Given the description of an element on the screen output the (x, y) to click on. 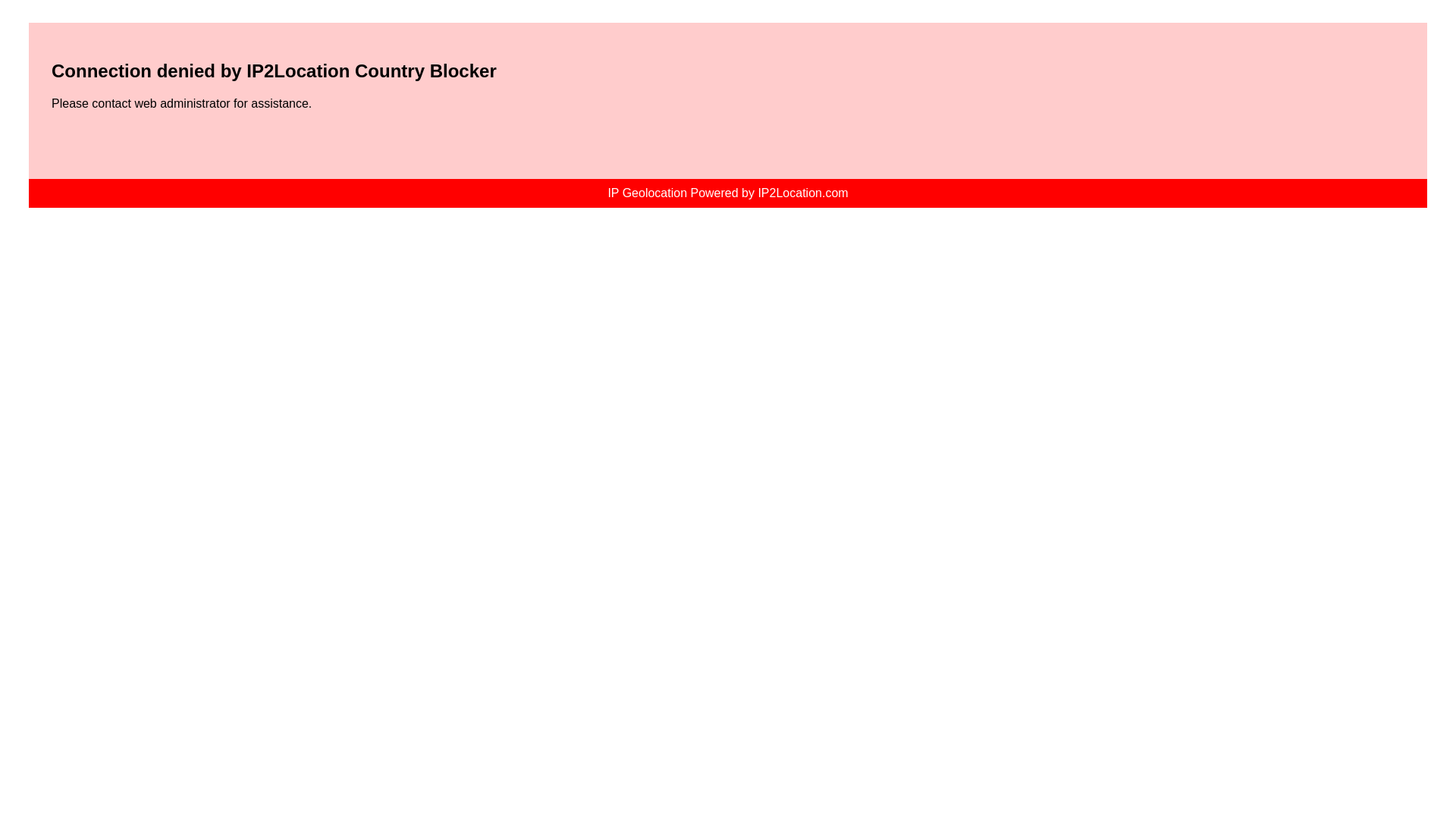
IP Geolocation Powered by IP2Location.com Element type: text (727, 192)
